Given the description of an element on the screen output the (x, y) to click on. 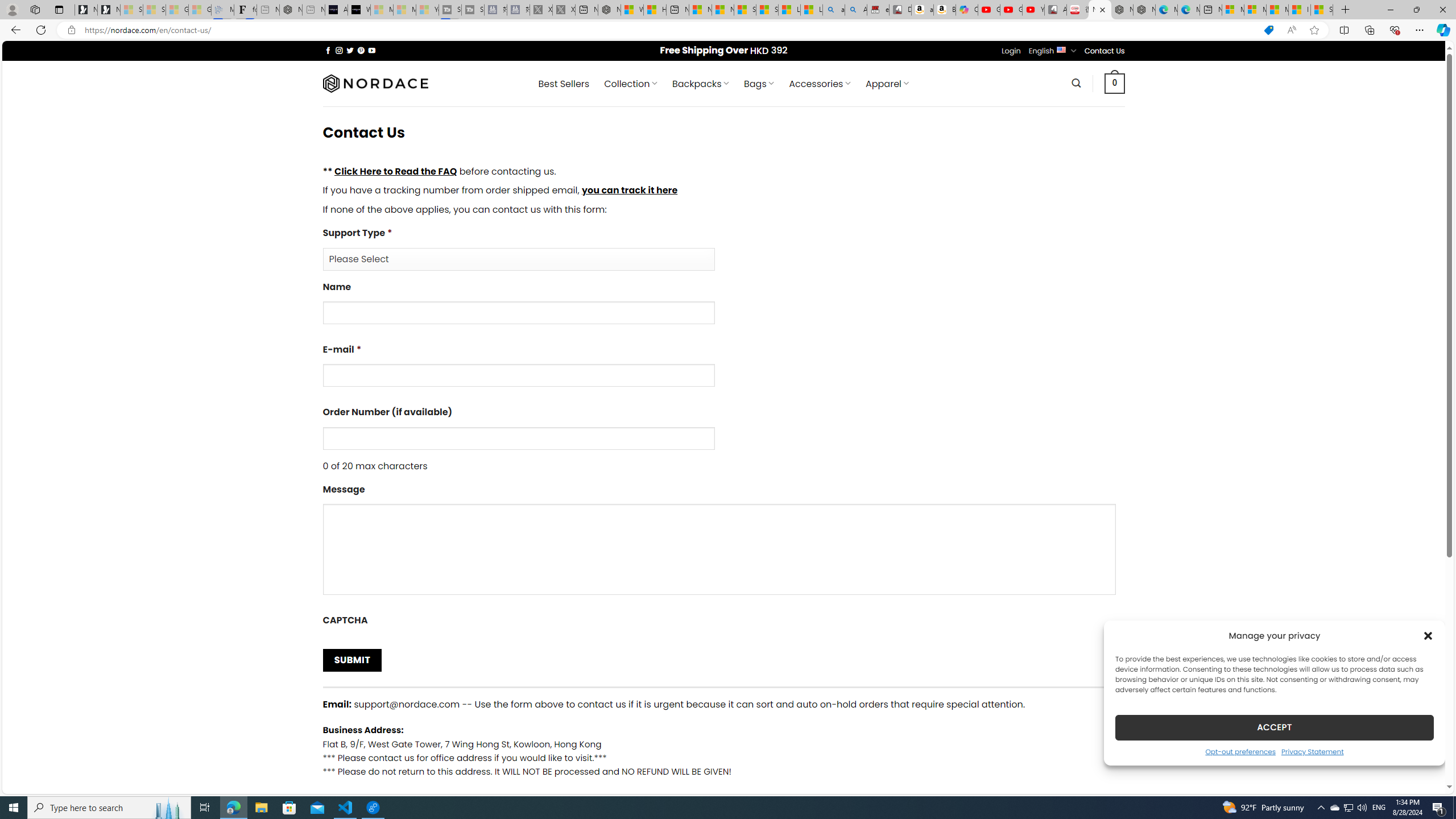
  Best Sellers (563, 83)
Contact Us (1104, 50)
Copilot (966, 9)
Refresh (40, 29)
Huge shark washes ashore at New York City beach | Watch (655, 9)
Privacy Statement (1312, 750)
Close tab (1102, 9)
Order Number (if available) (517, 437)
New tab (1211, 9)
Amazon Echo Dot PNG - Search Images (856, 9)
